Given the description of an element on the screen output the (x, y) to click on. 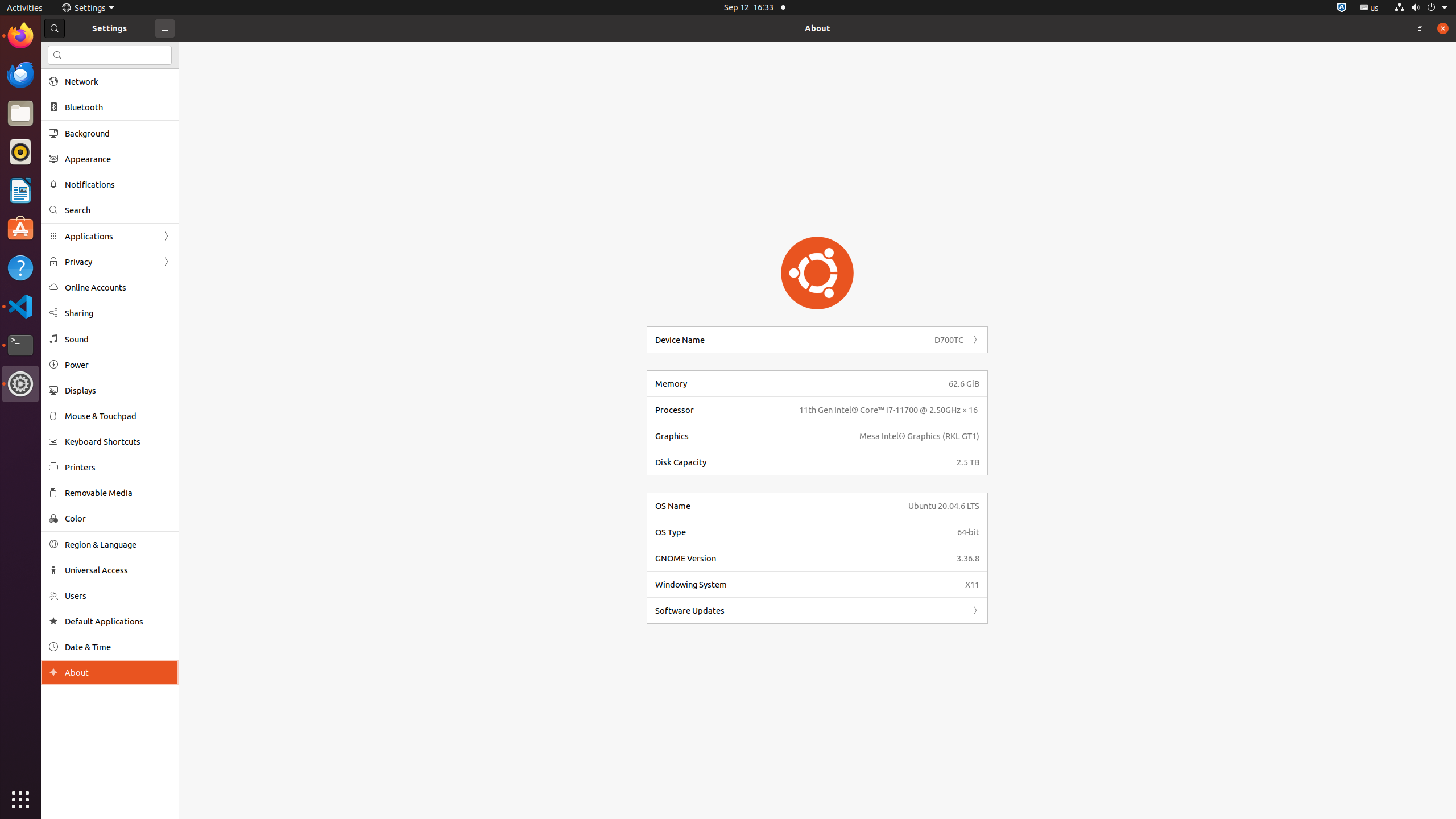
Sound Element type: label (117, 339)
Mouse & Touchpad Element type: label (117, 415)
Trash Element type: label (75, 108)
Online Accounts Element type: label (117, 287)
Memory Element type: label (798, 383)
